Given the description of an element on the screen output the (x, y) to click on. 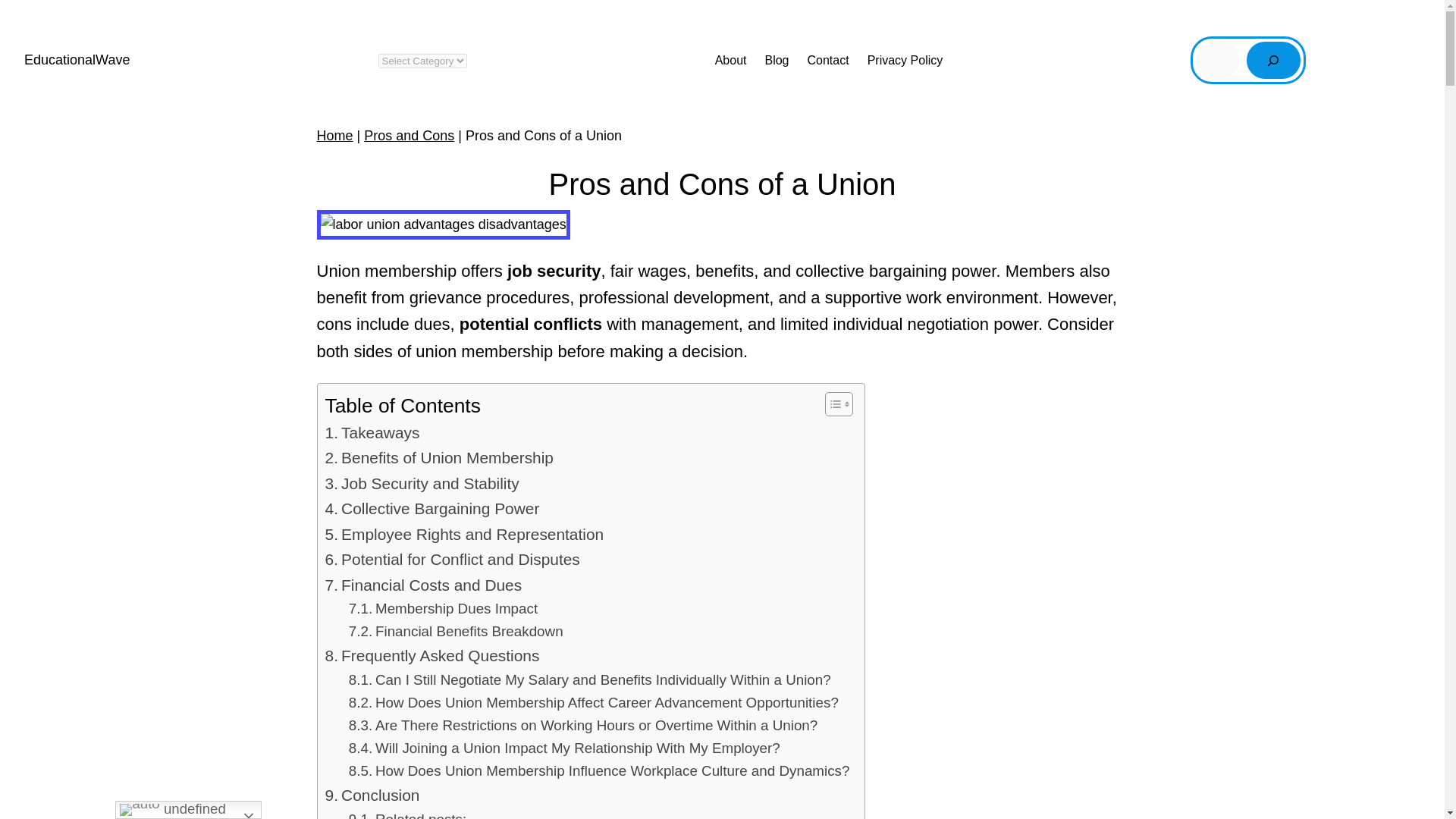
Benefits of Union Membership (438, 457)
Pros and Cons (409, 135)
Employee Rights and Representation (464, 534)
Frequently Asked Questions (431, 655)
Conclusion (371, 794)
Membership Dues Impact (443, 608)
About (730, 60)
Potential for Conflict and Disputes (451, 559)
Employee Rights and Representation (464, 534)
Contact (828, 60)
